Given the description of an element on the screen output the (x, y) to click on. 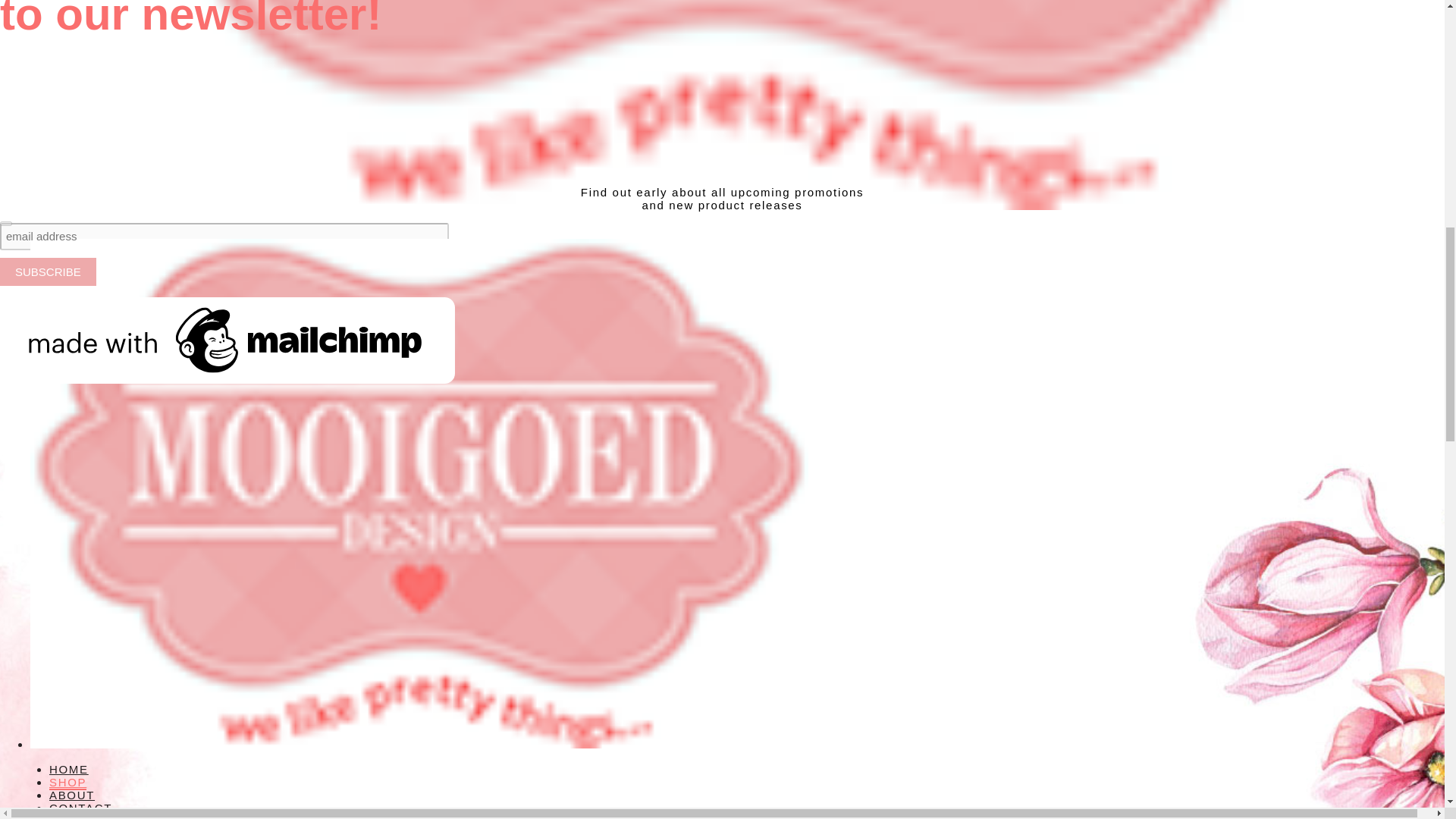
HOME (68, 768)
ABOUT (71, 794)
CONTACT (80, 807)
WHOLESALE (90, 816)
Subscribe (48, 271)
SHOP (67, 782)
Subscribe (48, 271)
Mailchimp - email marketing made easy and fun (227, 379)
